Given the description of an element on the screen output the (x, y) to click on. 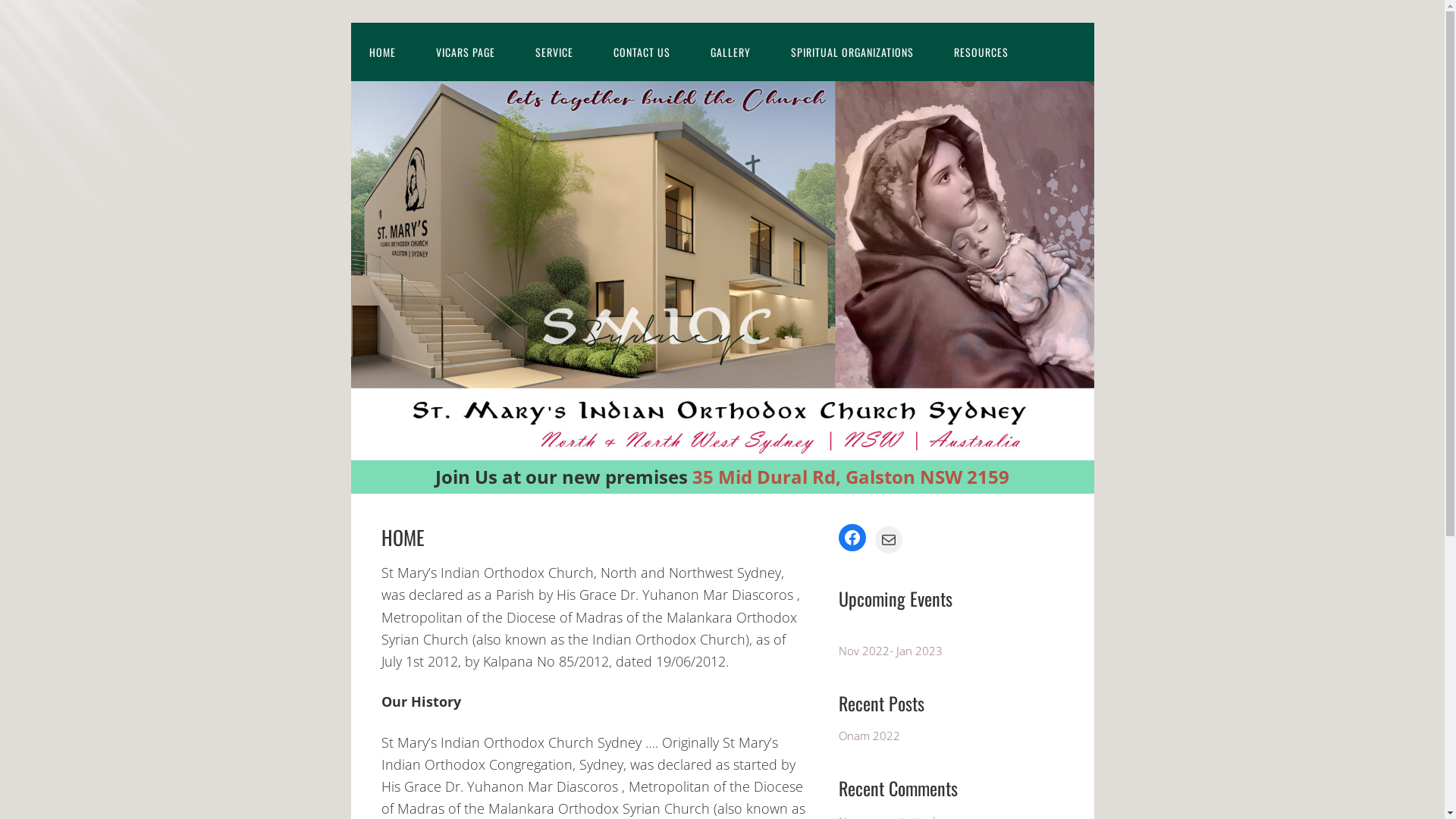
35 Mid Dural Rd, Galston NSW 2159 Element type: text (850, 476)
VICARS PAGE Element type: text (464, 51)
Onam 2022 Element type: text (869, 735)
Facebook Element type: text (852, 537)
SPIRITUAL ORGANIZATIONS Element type: text (851, 51)
CONTACT US Element type: text (640, 51)
GALLERY Element type: text (729, 51)
HOME Element type: text (381, 51)
Nov 2022- Jan 2023 Element type: text (890, 650)
RESOURCES Element type: text (980, 51)
Mail Element type: text (888, 539)
SERVICE Element type: text (554, 51)
